Given the description of an element on the screen output the (x, y) to click on. 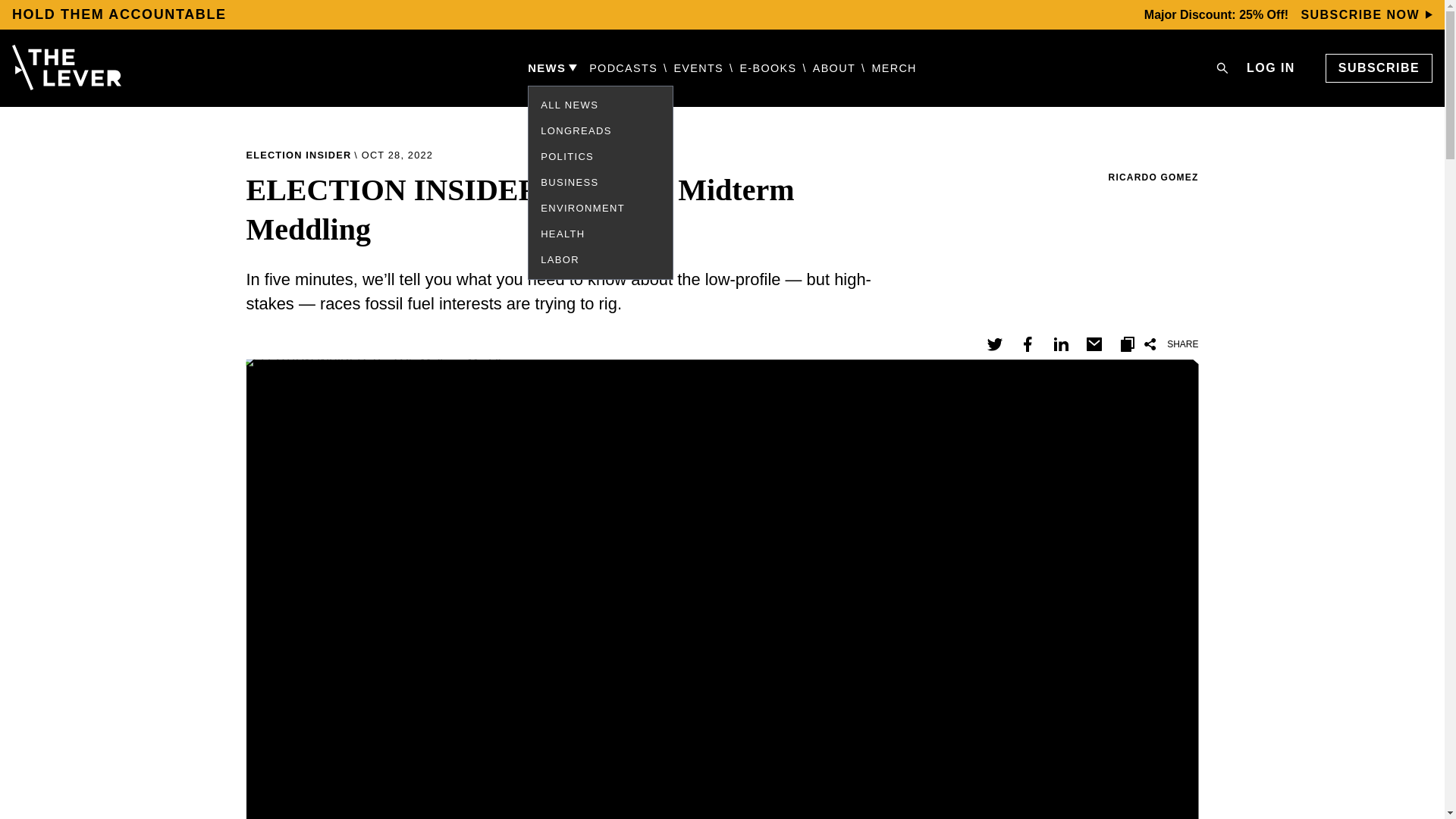
ABOUT (834, 68)
Share on Linkedin (1060, 343)
POLITICS (567, 156)
MERCH (892, 68)
LABOR (559, 259)
LOG IN (1270, 67)
RICARDO GOMEZ (1153, 176)
HEALTH (562, 233)
EVENTS (697, 68)
Share by email (1093, 343)
ALL NEWS (569, 104)
Share on Facebook (1026, 343)
Search (1221, 68)
SUBSCRIBE (1378, 68)
PODCASTS (623, 68)
